Given the description of an element on the screen output the (x, y) to click on. 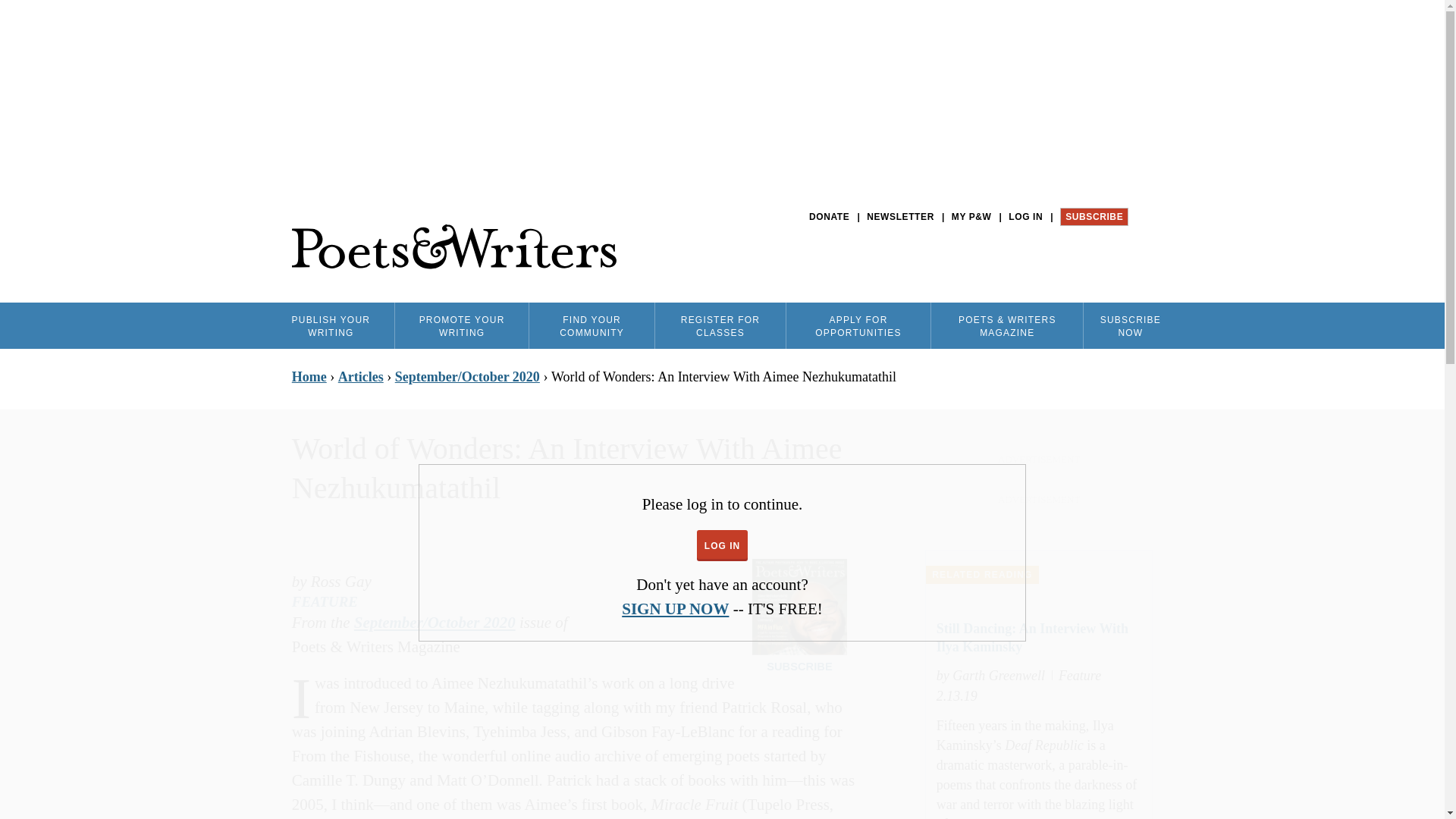
NEWSLETTER (900, 216)
PUBLISH YOUR WRITING (330, 325)
Home (453, 246)
LOG IN (1025, 216)
DONATE (828, 216)
SUBSCRIBE (1093, 217)
Publish Your Writing (330, 325)
PROMOTE YOUR WRITING (461, 325)
